Given the description of an element on the screen output the (x, y) to click on. 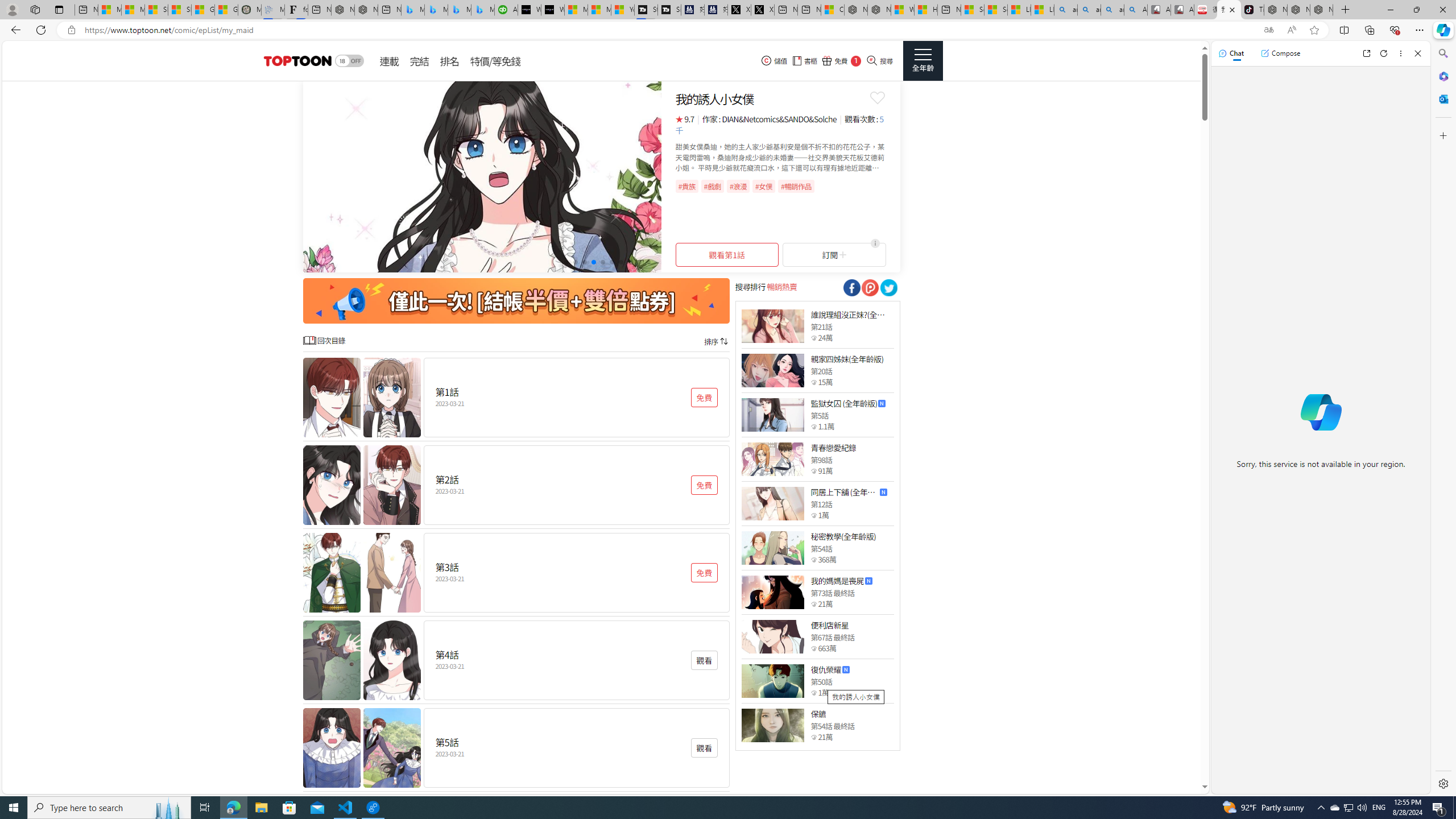
Microsoft Bing Travel - Stays in Bangkok, Bangkok, Thailand (435, 9)
header (295, 60)
Go to slide 4 (593, 261)
Go to slide 9 (639, 261)
Settings (1442, 783)
